Given the description of an element on the screen output the (x, y) to click on. 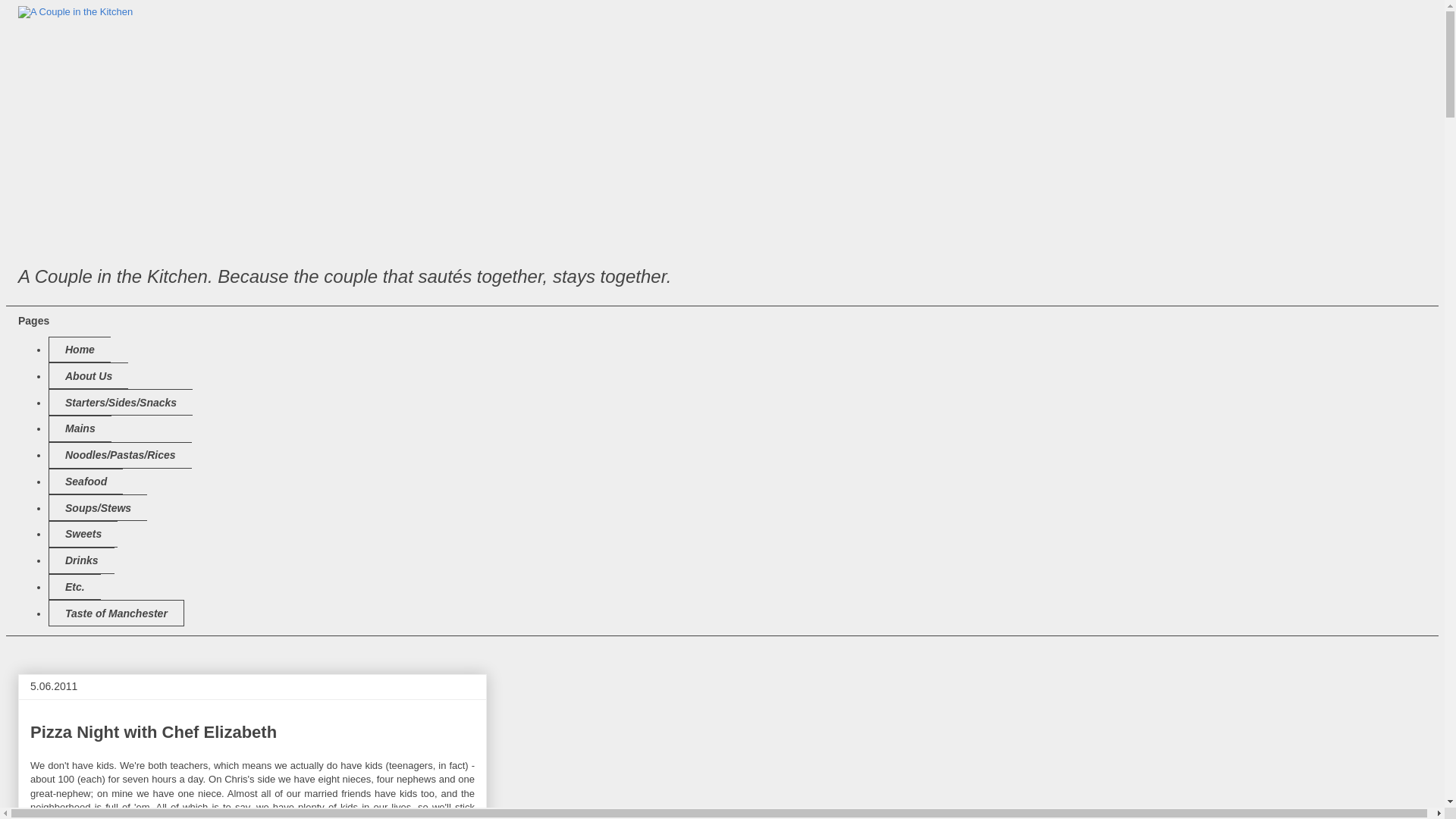
Drinks (81, 560)
Taste of Manchester (116, 612)
Seafood (85, 481)
Home (79, 349)
Sweets (82, 533)
About Us (88, 375)
Etc. (74, 587)
Mains (80, 428)
